Given the description of an element on the screen output the (x, y) to click on. 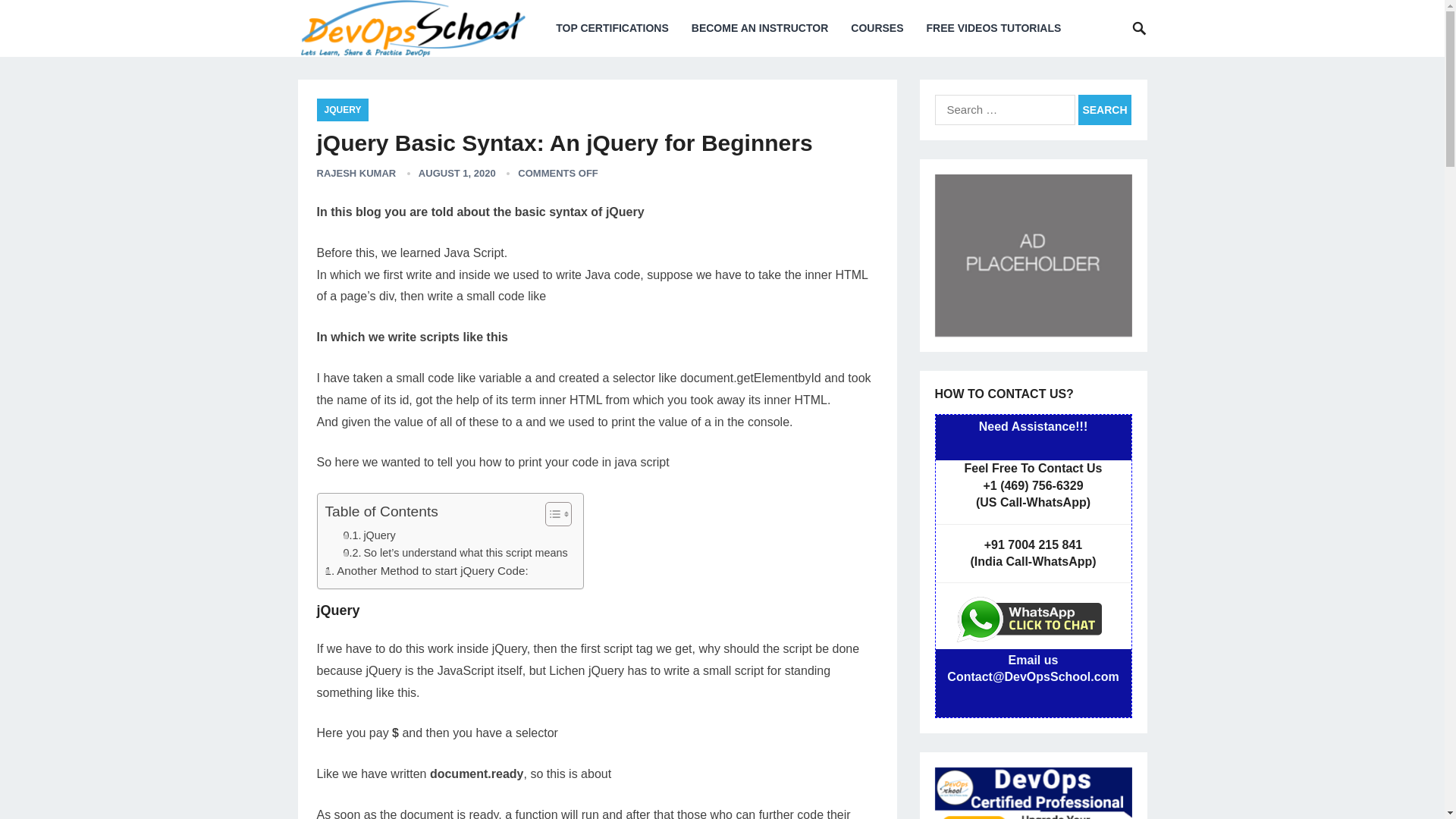
Another Method to start jQuery Code: (425, 570)
RAJESH KUMAR (356, 172)
jQuery (368, 535)
JQUERY (343, 109)
View all posts in jQuery (343, 109)
FREE VIDEOS TUTORIALS (992, 28)
Search (1104, 110)
Search (1104, 110)
BECOME AN INSTRUCTOR (759, 28)
Search (1104, 110)
jQuery (368, 535)
Posts by Rajesh Kumar (356, 172)
Another Method to start jQuery Code: (425, 570)
COURSES (877, 28)
TOP CERTIFICATIONS (611, 28)
